Given the description of an element on the screen output the (x, y) to click on. 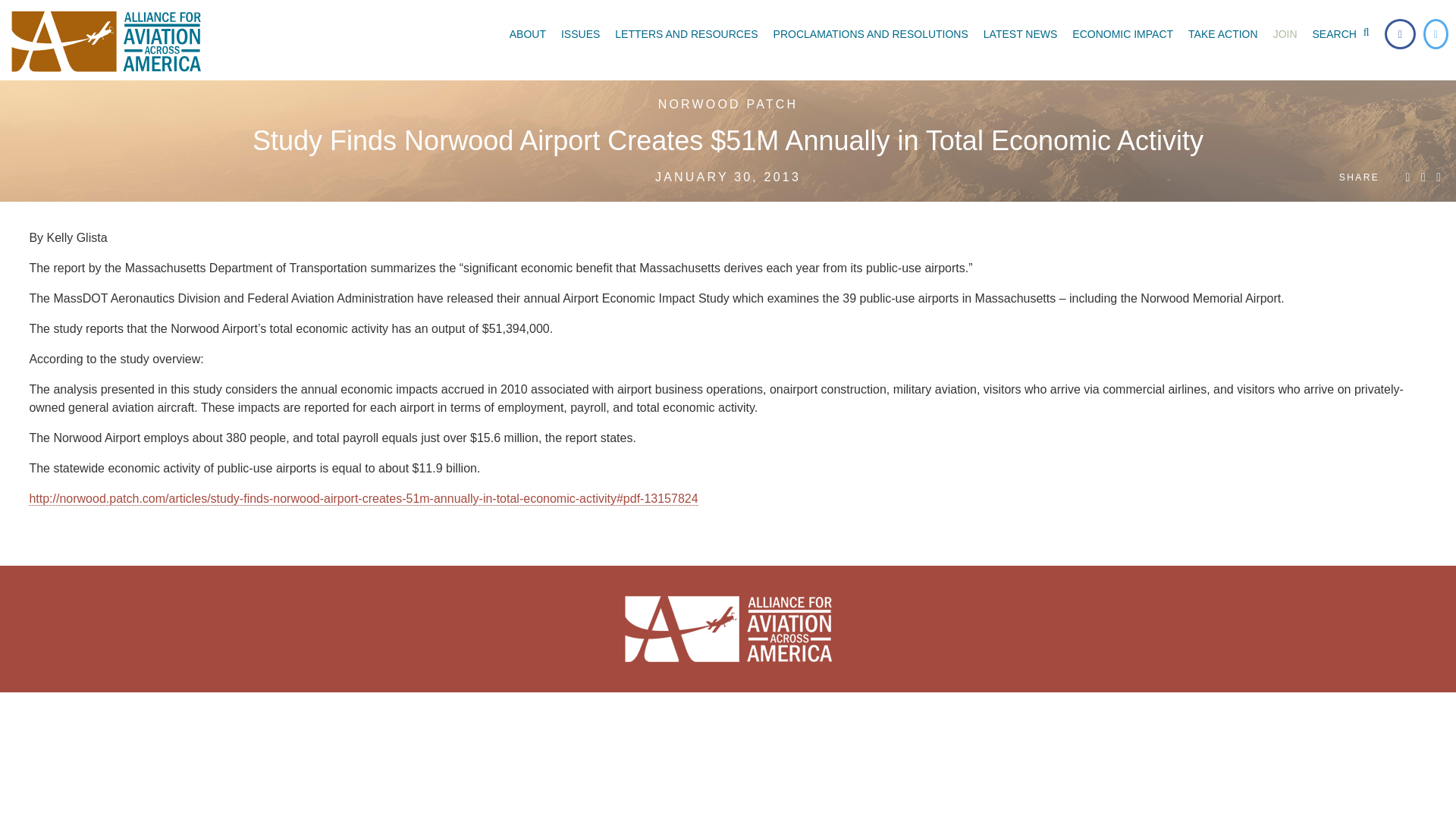
JOIN (1284, 33)
LATEST NEWS (1020, 33)
TAKE ACTION (1222, 33)
LETTERS AND RESOURCES (686, 33)
ABOUT (527, 33)
ISSUES (580, 33)
SEARCH (1344, 33)
ECONOMIC IMPACT (1122, 33)
PROCLAMATIONS AND RESOLUTIONS (870, 33)
